Given the description of an element on the screen output the (x, y) to click on. 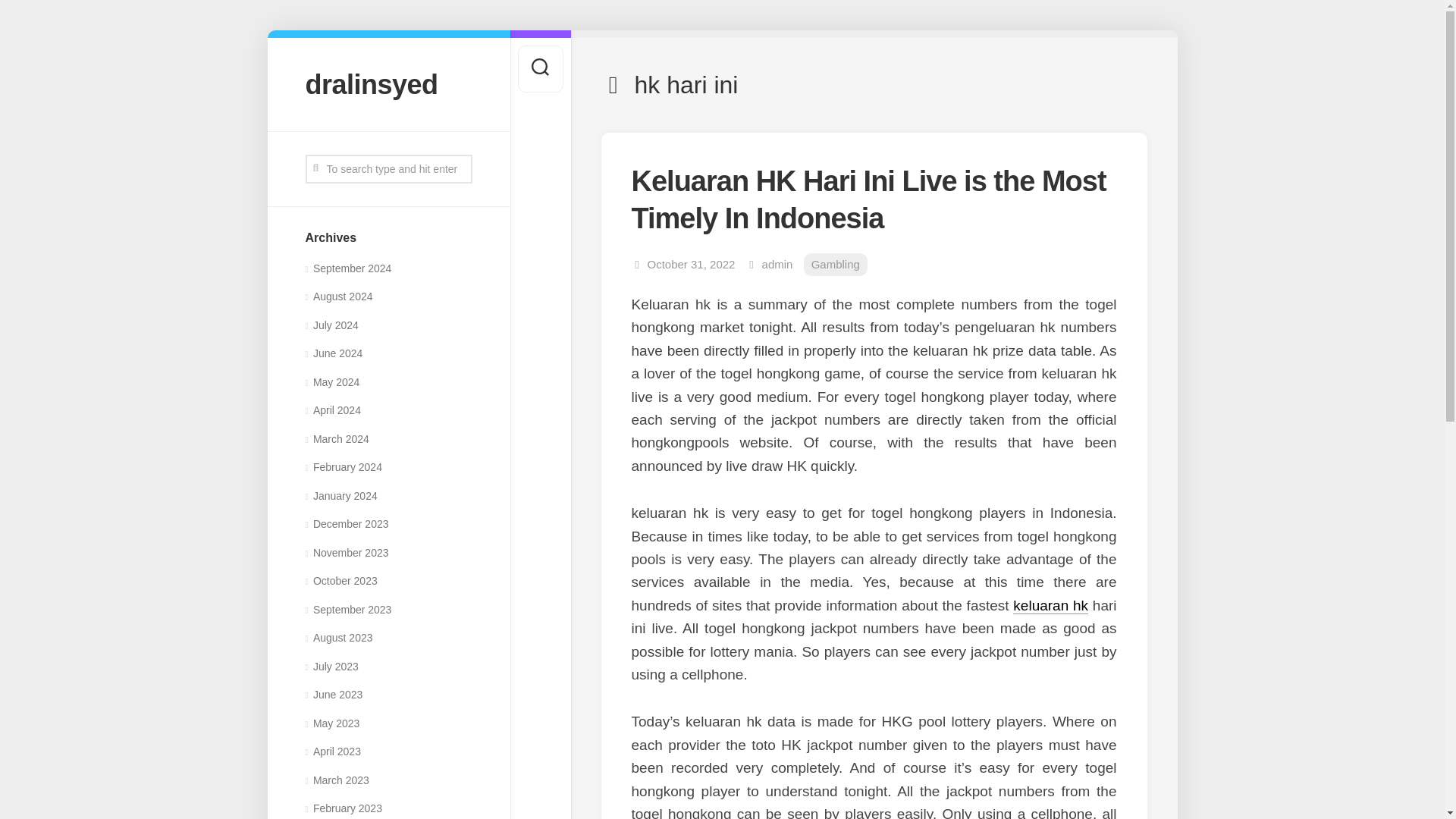
January 2024 (340, 495)
May 2024 (331, 381)
To search type and hit enter (387, 168)
February 2024 (342, 467)
June 2024 (333, 353)
February 2023 (342, 808)
March 2023 (336, 779)
August 2023 (338, 637)
April 2023 (331, 751)
July 2023 (331, 666)
